Given the description of an element on the screen output the (x, y) to click on. 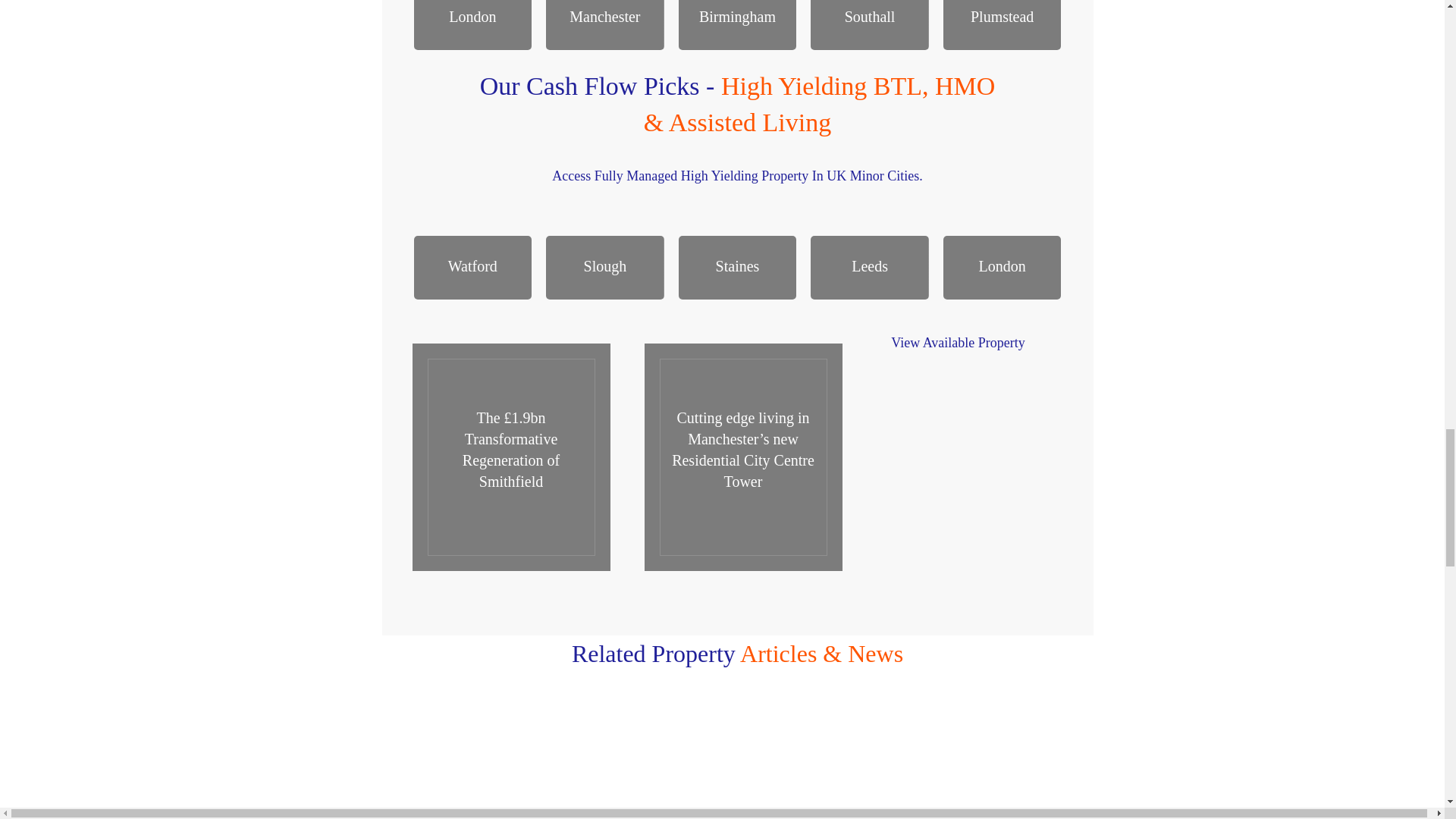
House Price Predictions: Navigating Buy to Let Investment UK (736, 762)
Invest in a Thriving Future at The Green Quarter, Southall (494, 762)
